Given the description of an element on the screen output the (x, y) to click on. 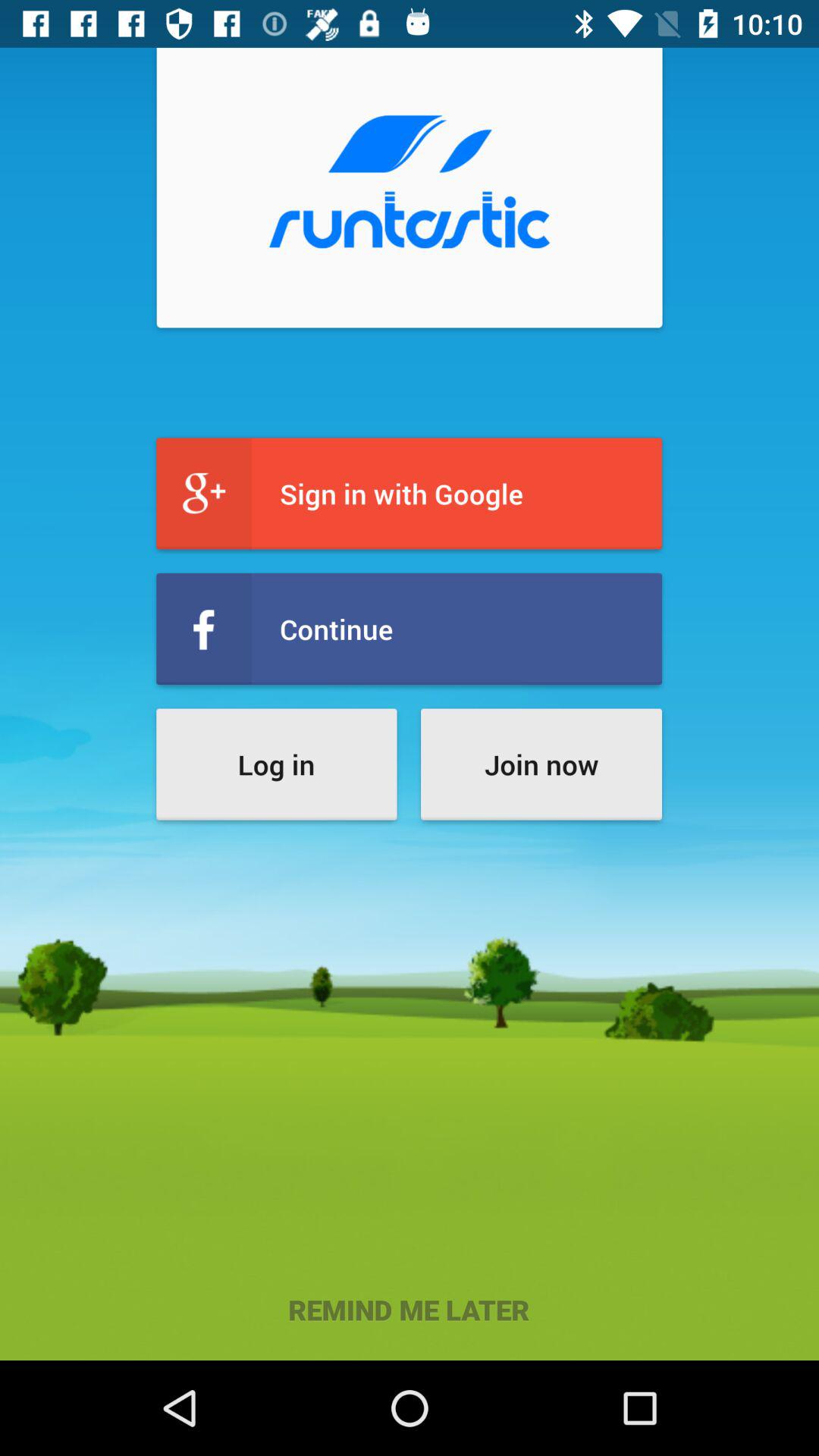
launch the icon below the continue (276, 764)
